Given the description of an element on the screen output the (x, y) to click on. 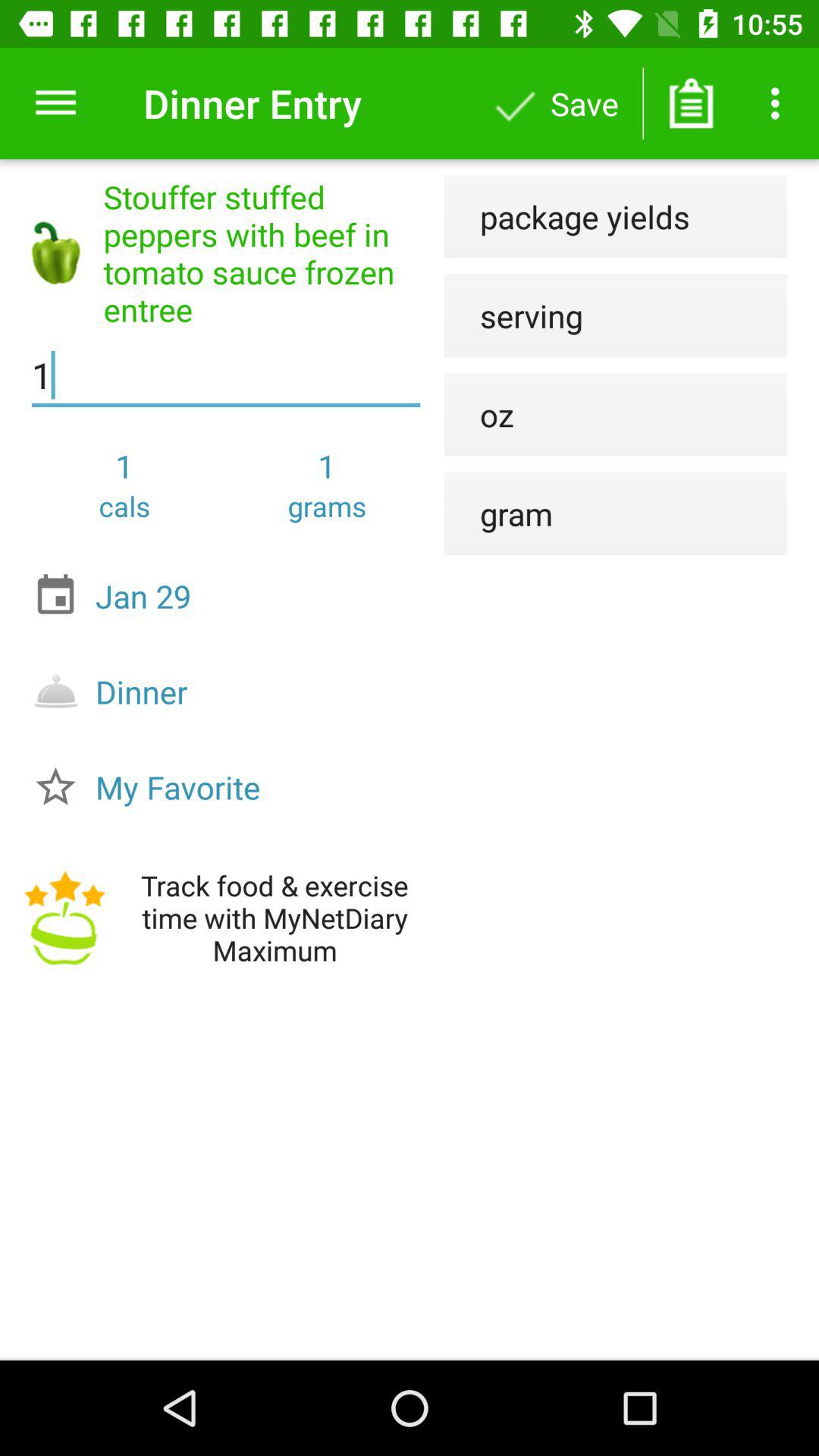
open the icon next to stouffer stuffed peppers (513, 315)
